Given the description of an element on the screen output the (x, y) to click on. 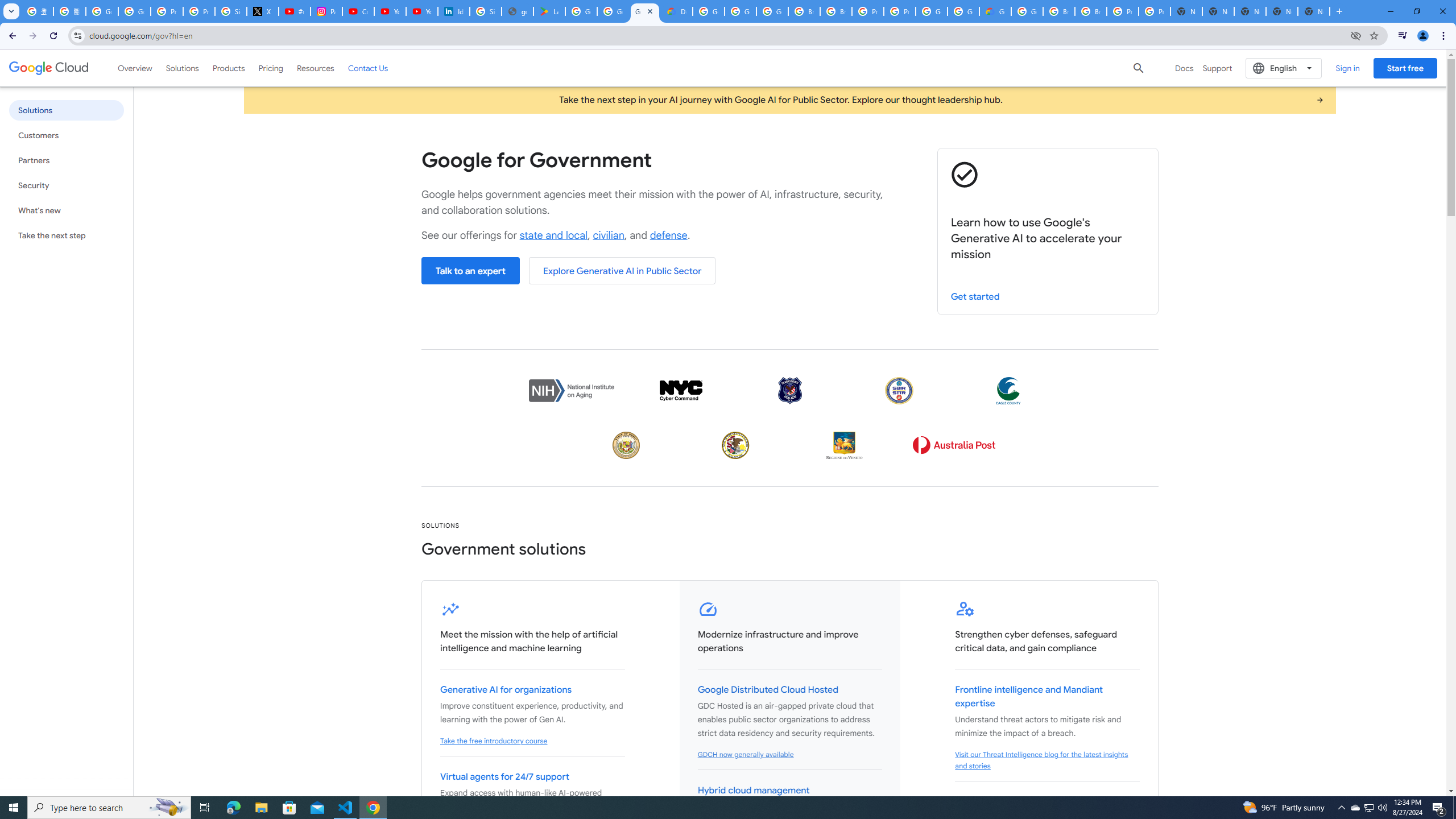
Contact Us (368, 67)
state and local (553, 235)
NYC (680, 390)
U.S. Navy (898, 390)
Explore Generative AI in Public Sector (622, 270)
New Tab (1313, 11)
Generative AI for organizations (505, 689)
